Given the description of an element on the screen output the (x, y) to click on. 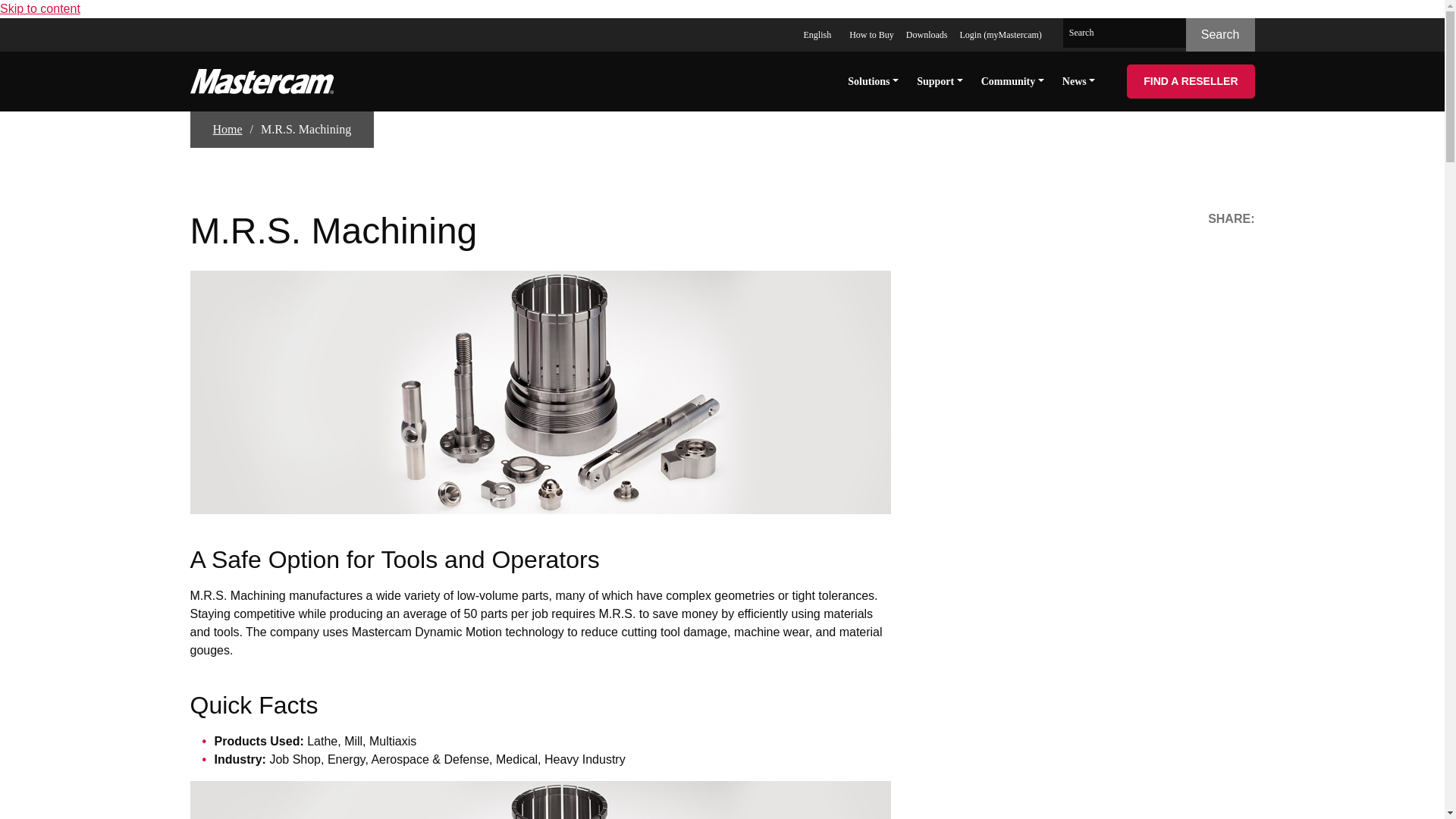
Community (1012, 80)
News (1077, 80)
Search (1220, 34)
Skip to content (40, 8)
English (819, 34)
How to Buy (871, 34)
Downloads (926, 34)
Support (939, 80)
Solutions (872, 80)
English (819, 34)
